Given the description of an element on the screen output the (x, y) to click on. 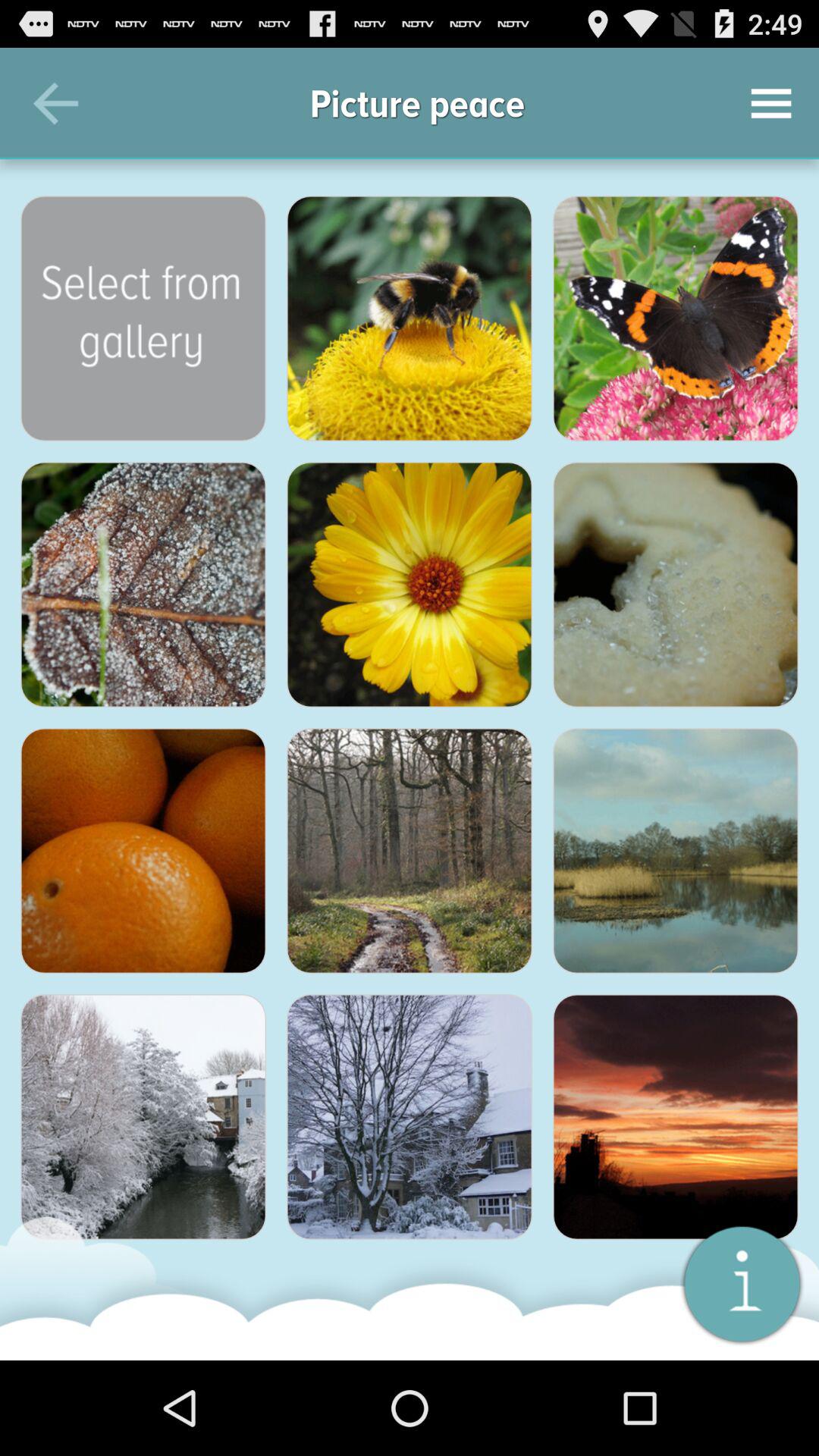
loads photo (143, 850)
